Given the description of an element on the screen output the (x, y) to click on. 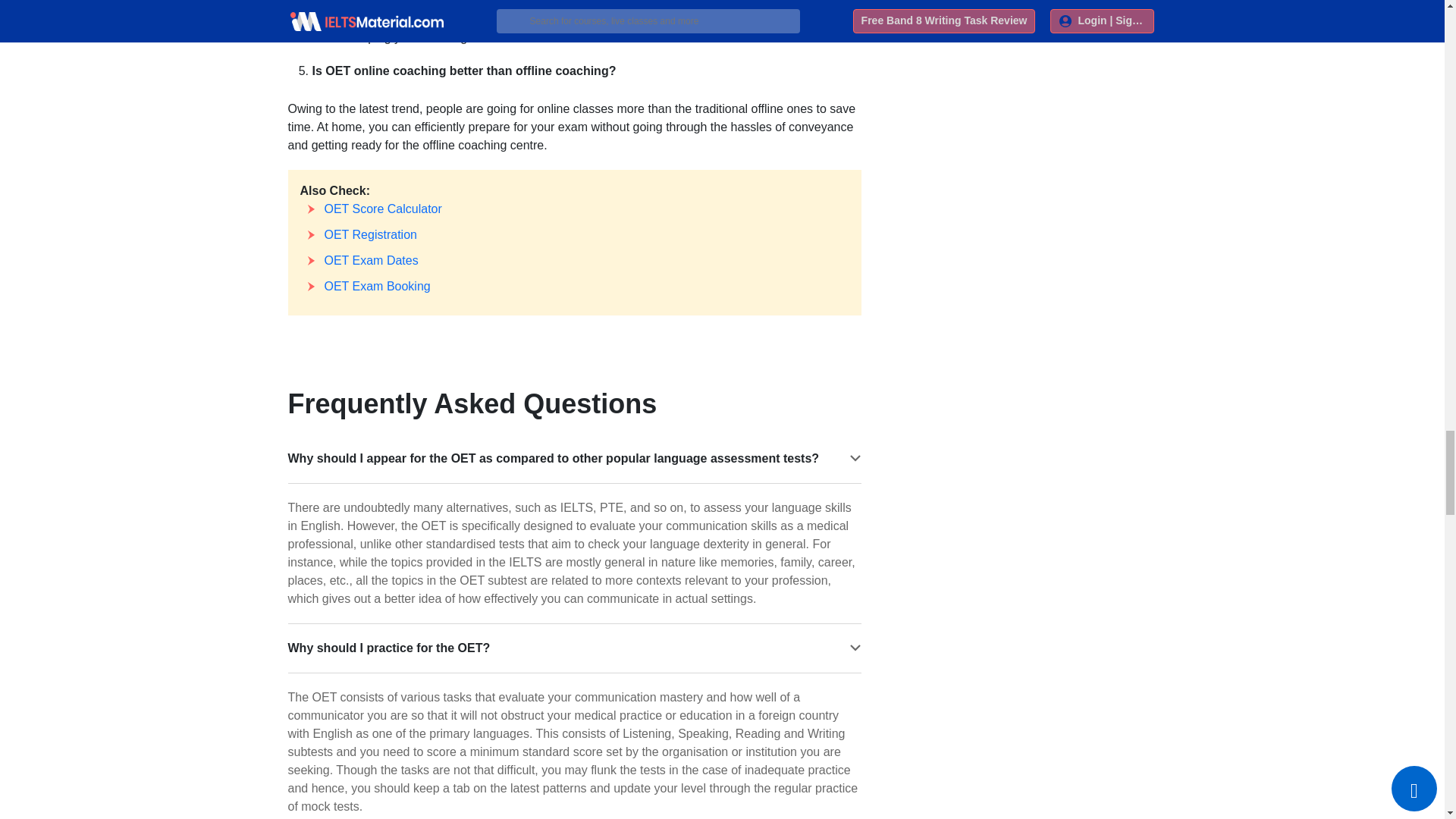
OET Exam Booking (377, 286)
OET Exam Dates (371, 259)
OET Score Calculator (383, 208)
OET Registration (370, 234)
